Given the description of an element on the screen output the (x, y) to click on. 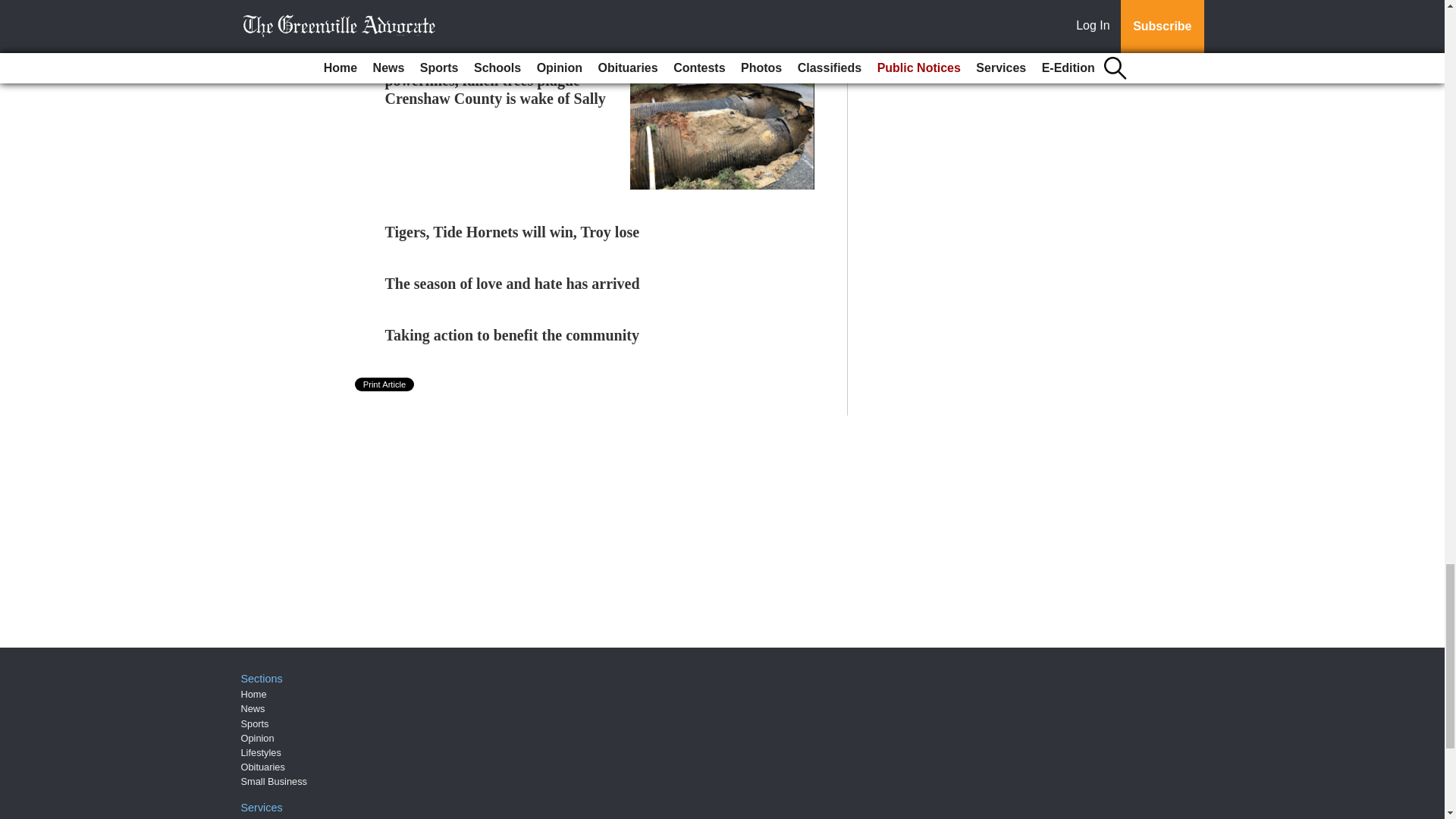
The season of love and hate has arrived (512, 283)
Tigers, Tide Hornets will win, Troy lose (512, 231)
Taking action to benefit the community (512, 334)
Tigers, Tide Hornets will win, Troy lose (512, 231)
Taking action to benefit the community (512, 334)
Print Article (384, 384)
The season of love and hate has arrived (512, 283)
